Given the description of an element on the screen output the (x, y) to click on. 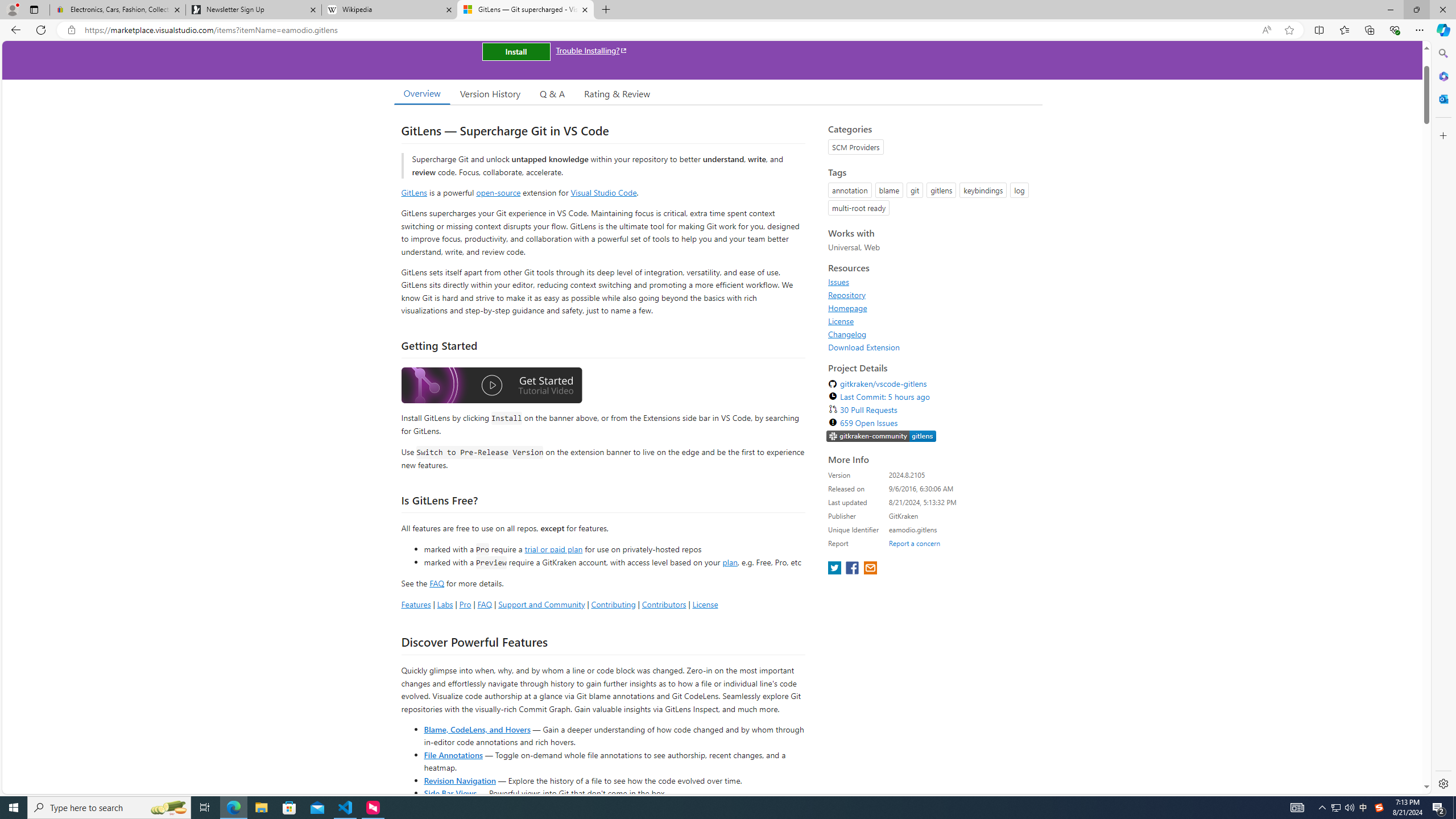
Contributing (613, 603)
Blame, CodeLens, and Hovers (476, 728)
Report a concern (914, 542)
share extension on facebook (853, 568)
Homepage (931, 307)
FAQ (484, 603)
Watch the GitLens Getting Started video (491, 387)
Visual Studio Code (603, 192)
open-source (498, 192)
